Given the description of an element on the screen output the (x, y) to click on. 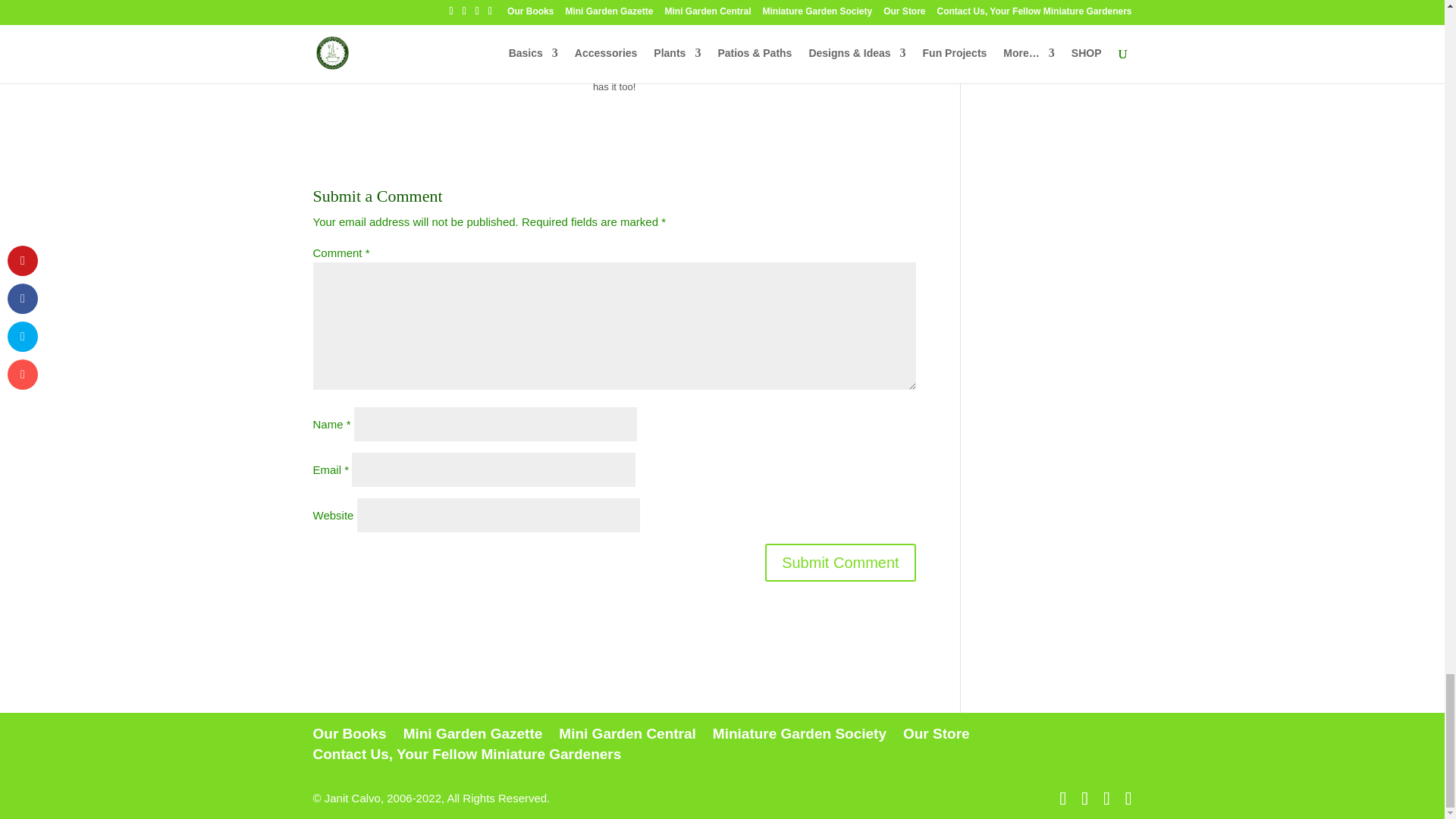
Submit Comment (840, 561)
